Given the description of an element on the screen output the (x, y) to click on. 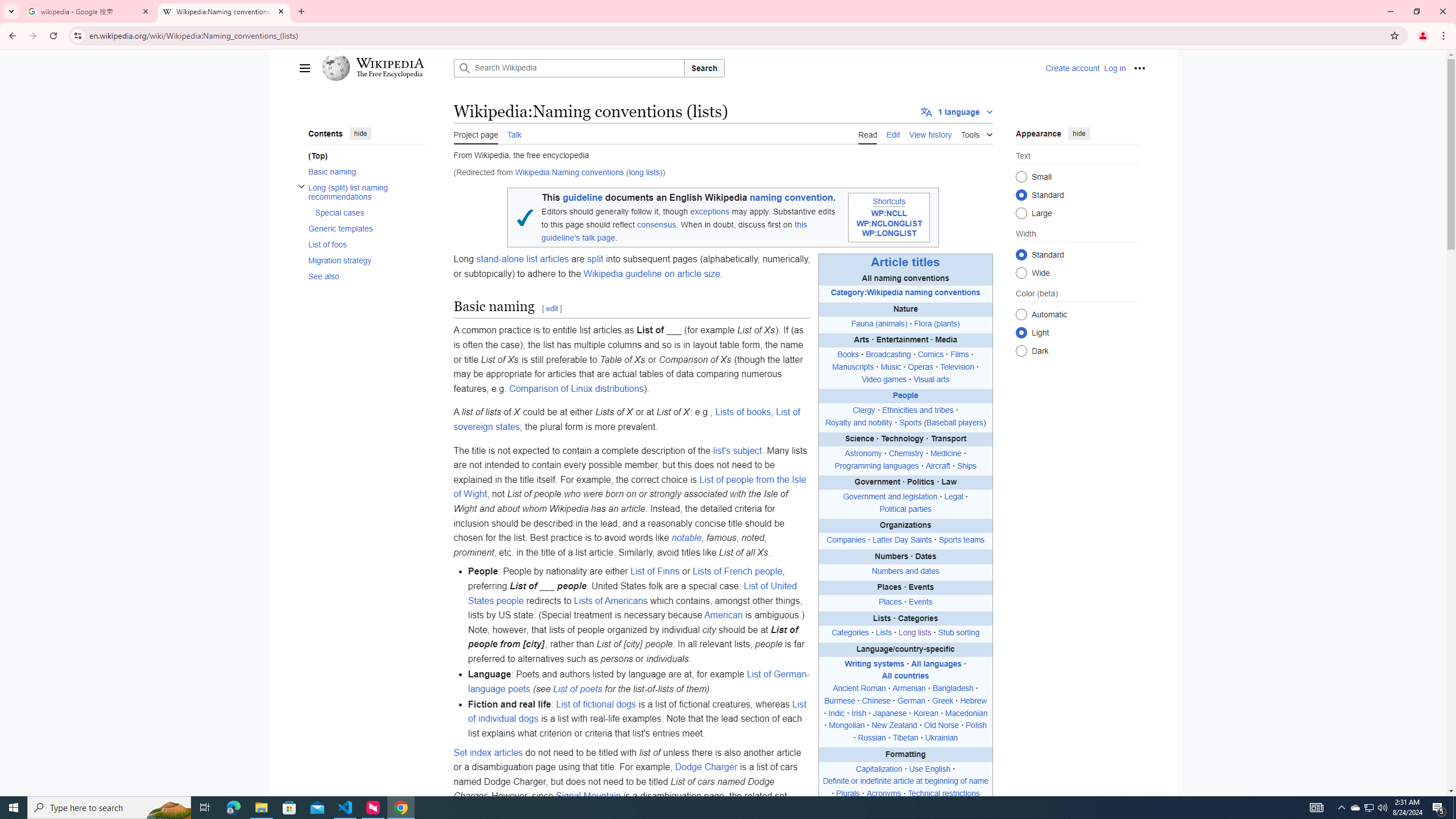
Medicine (946, 453)
Video games (883, 379)
Old Norse (941, 725)
edit (552, 308)
stand-alone list articles (522, 258)
AutomationID: pt-login-2 (1114, 67)
List of Finns (654, 571)
Long (split) list naming recommendations (368, 191)
AutomationID: ca-edit (892, 133)
Government and legislation (890, 496)
Project page (475, 133)
Events (920, 601)
